Given the description of an element on the screen output the (x, y) to click on. 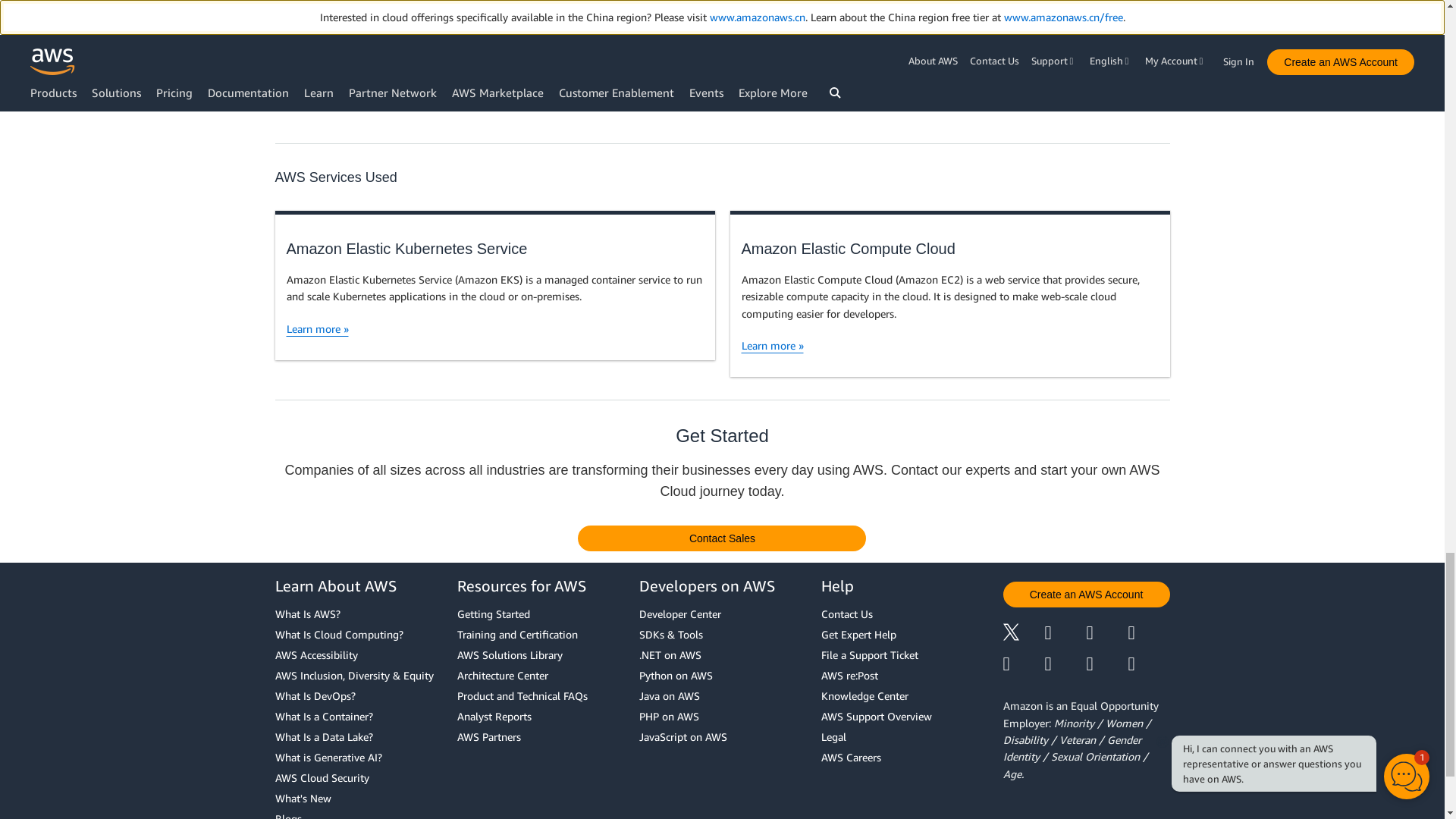
Instagram (1149, 634)
Twitter (1023, 634)
Linkedin (1106, 634)
Facebook (1065, 634)
